Given the description of an element on the screen output the (x, y) to click on. 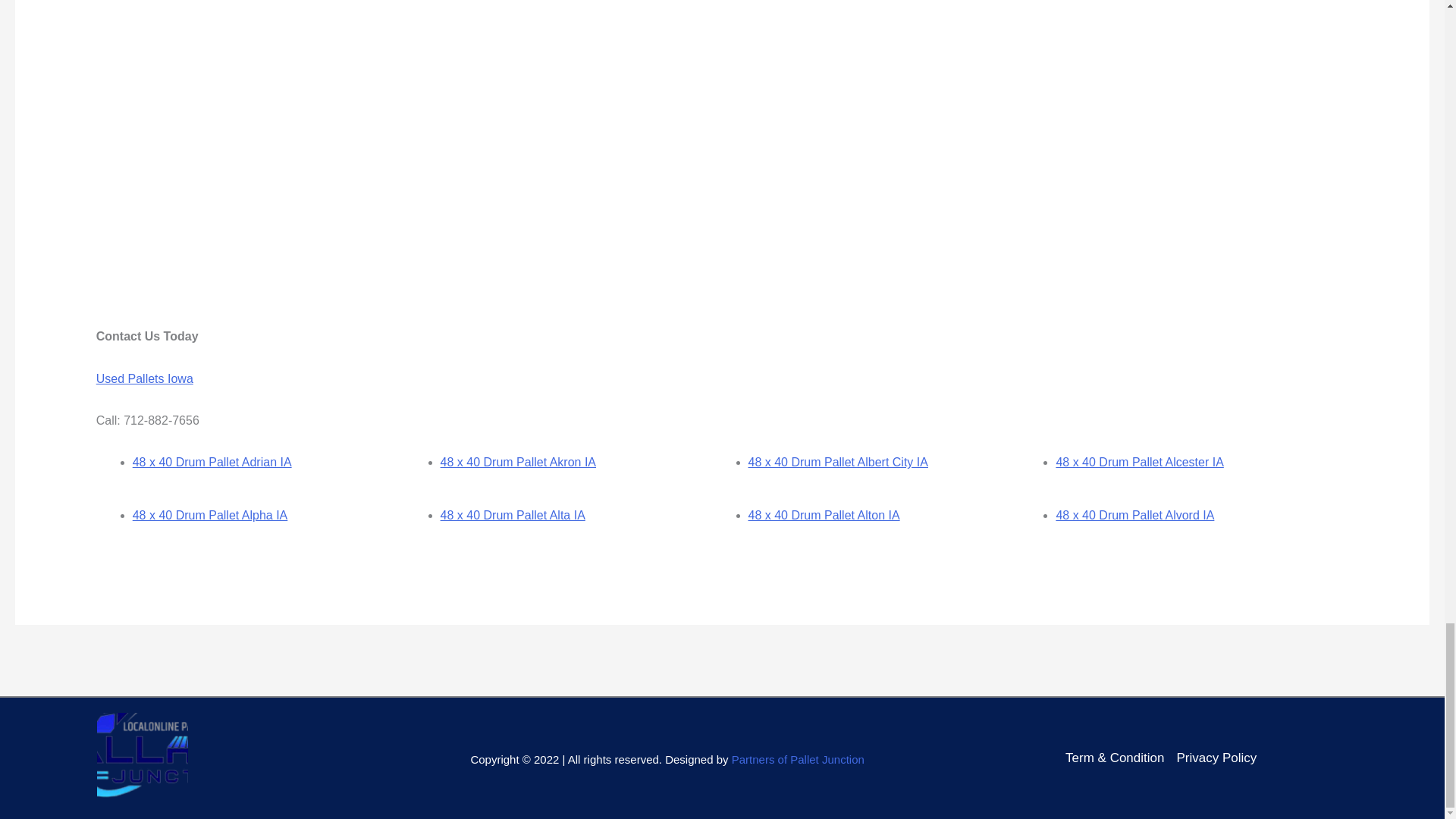
48 x 40 Drum Pallet Alpha IA (210, 514)
48 x 40 Drum Pallet Albert City IA (837, 461)
48 x 40 Drum Pallet Alpha IA (210, 514)
48 x 40 Drum Pallet Alcester IA (1139, 461)
48 x 40 Drum Pallet Alton IA (823, 514)
Partners of Pallet Junction (798, 758)
Used Pallets Iowa (144, 378)
48 x 40 Drum Pallet Albert City IA (837, 461)
48 x 40 Drum Pallet Alvord IA (1134, 514)
48 x 40 Drum Pallet Alcester IA (1139, 461)
